Given the description of an element on the screen output the (x, y) to click on. 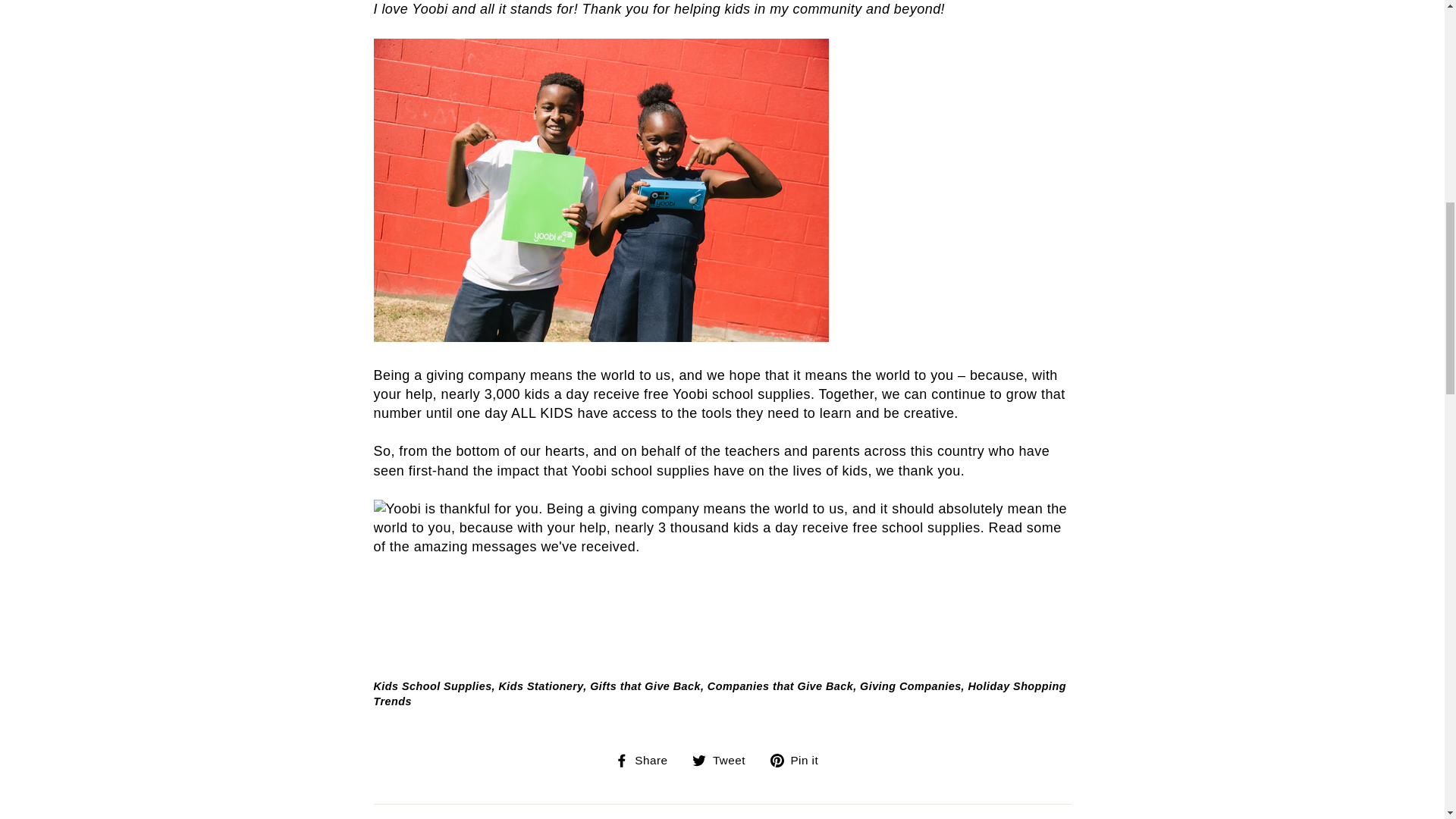
Share on Facebook (646, 760)
Tweet on Twitter (725, 760)
Pin on Pinterest (799, 760)
